Given the description of an element on the screen output the (x, y) to click on. 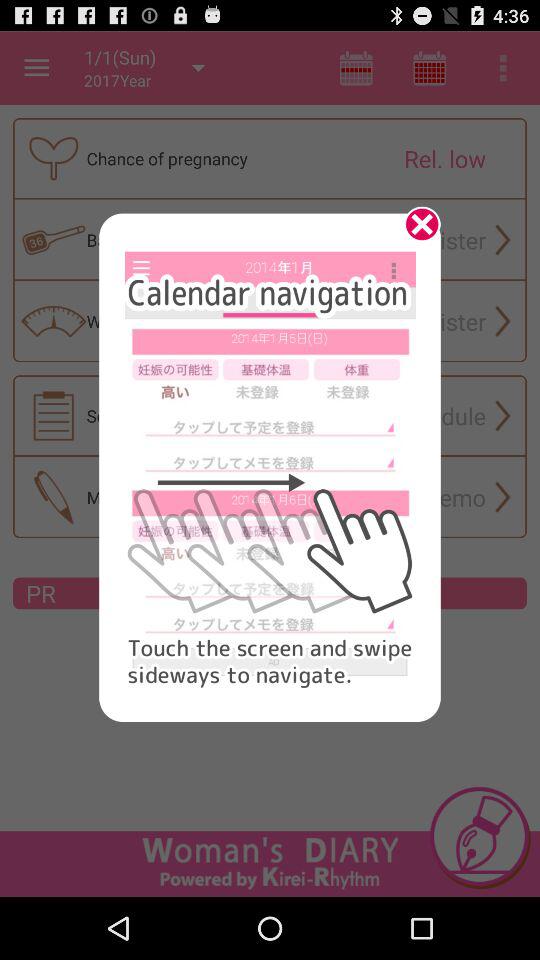
close tutorial (415, 231)
